Given the description of an element on the screen output the (x, y) to click on. 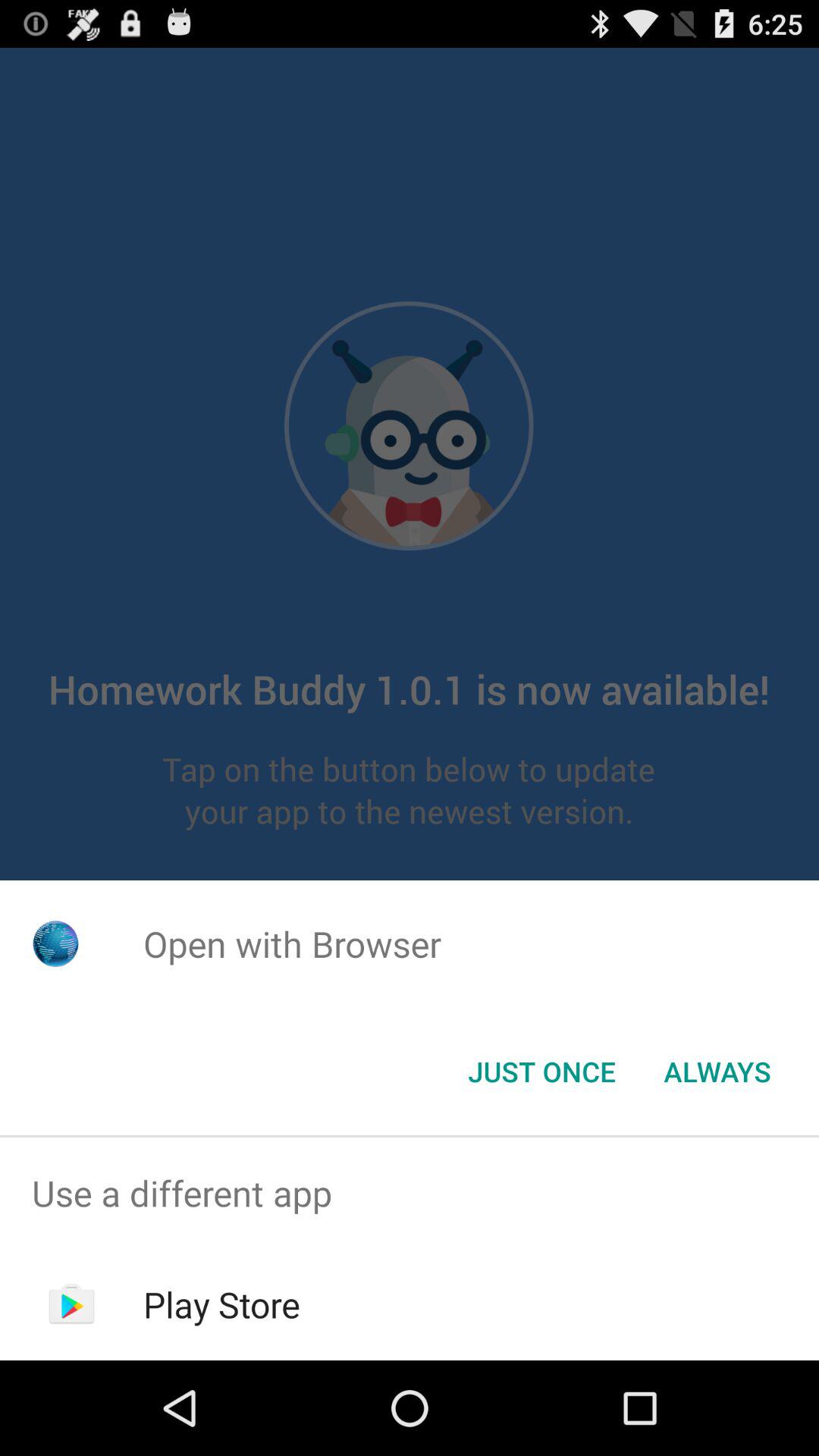
tap the always icon (717, 1071)
